Given the description of an element on the screen output the (x, y) to click on. 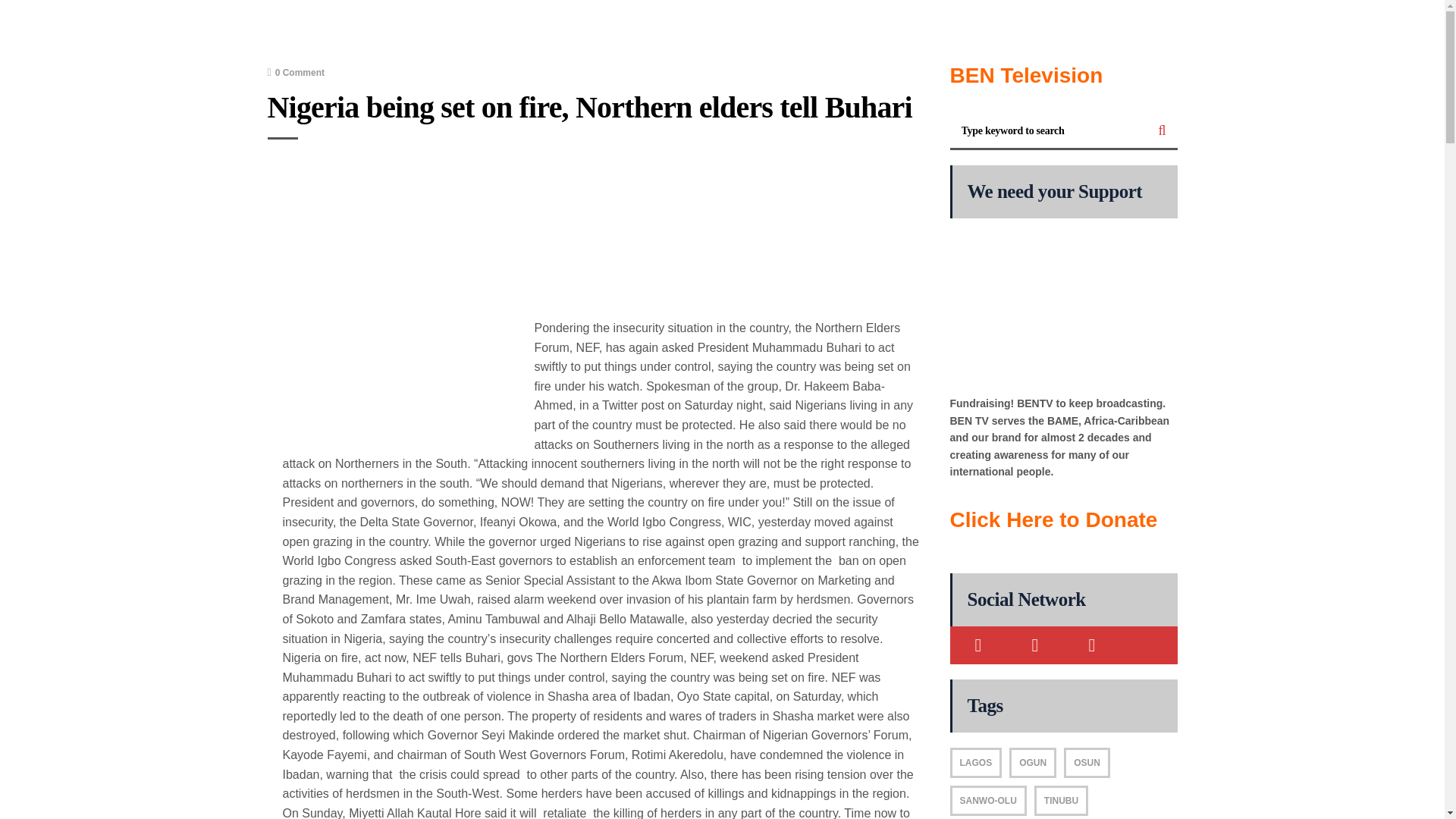
Type keyword to search (1048, 131)
Type keyword to search (1048, 131)
Advertisement (600, 230)
